Given the description of an element on the screen output the (x, y) to click on. 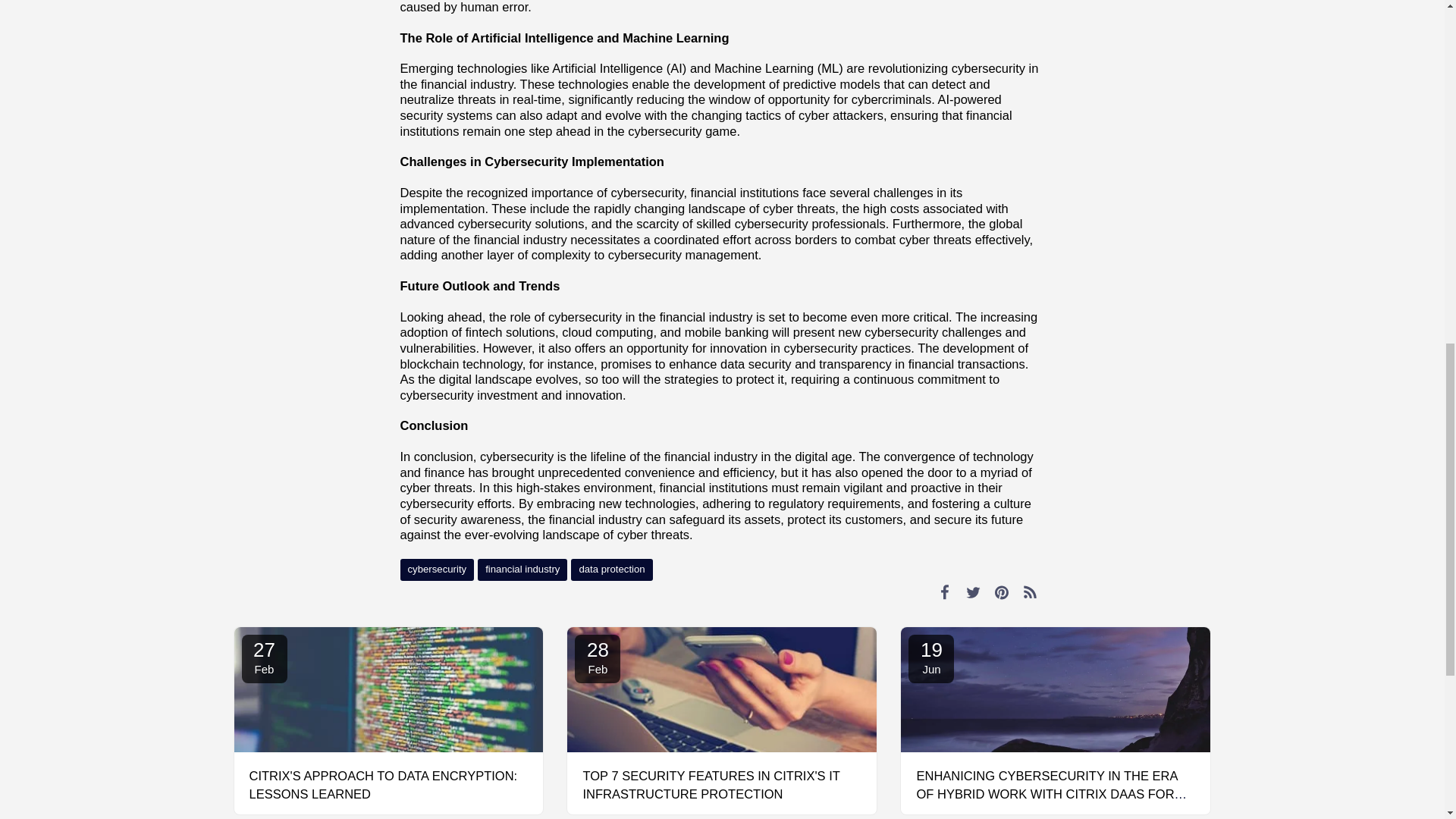
Tweet (973, 591)
RSS (1029, 591)
Share on Facebook (945, 591)
cybersecurity (437, 569)
Pin it (1002, 591)
